Given the description of an element on the screen output the (x, y) to click on. 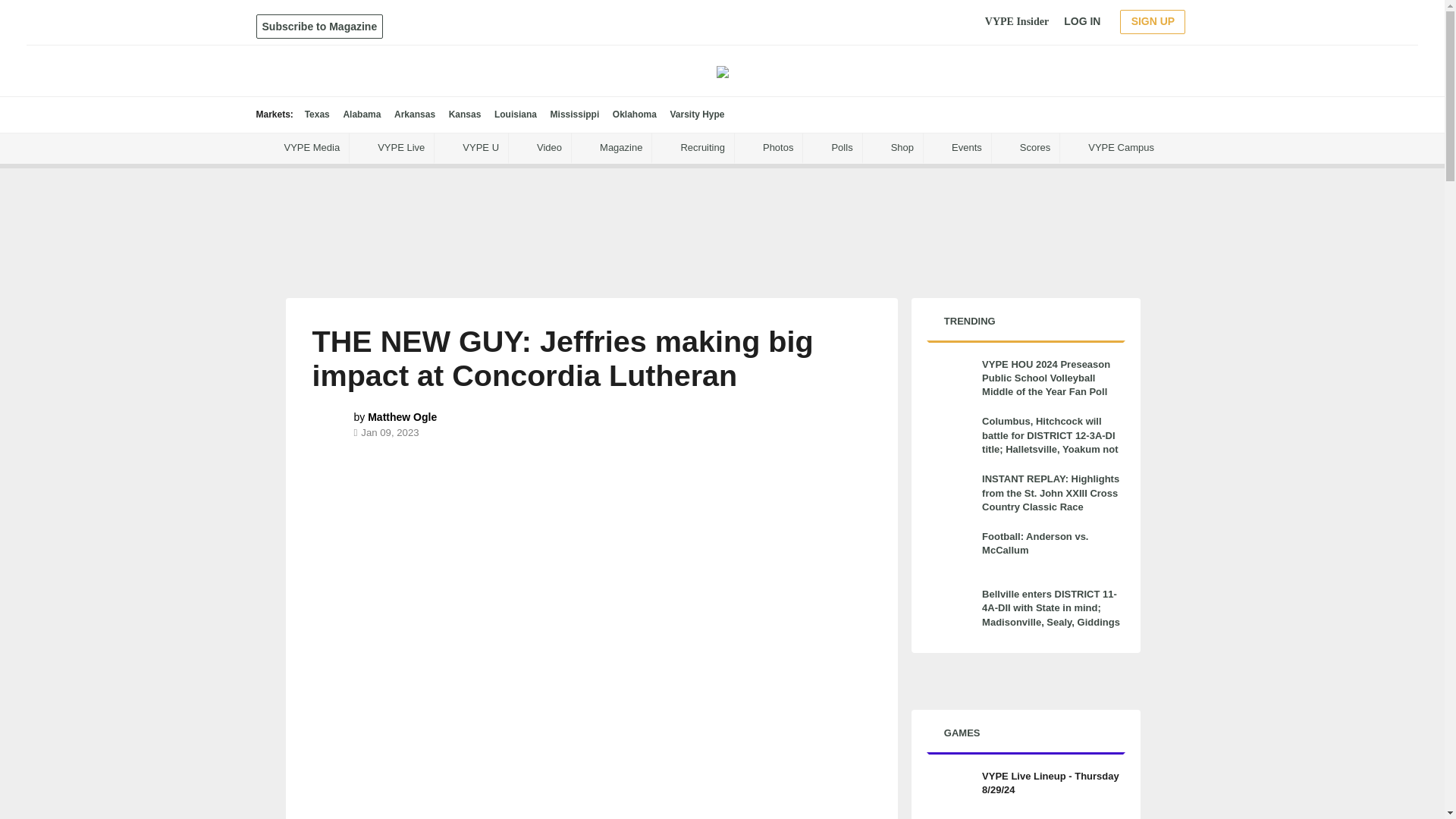
Louisiana (516, 113)
Arkansas (414, 113)
Oklahoma (634, 113)
Subscribe to Magazine (320, 26)
Varsity Hype (696, 113)
Texas (317, 113)
SIGN UP (1152, 21)
Alabama (361, 113)
LOG IN (1082, 21)
Kansas (464, 113)
